Given the description of an element on the screen output the (x, y) to click on. 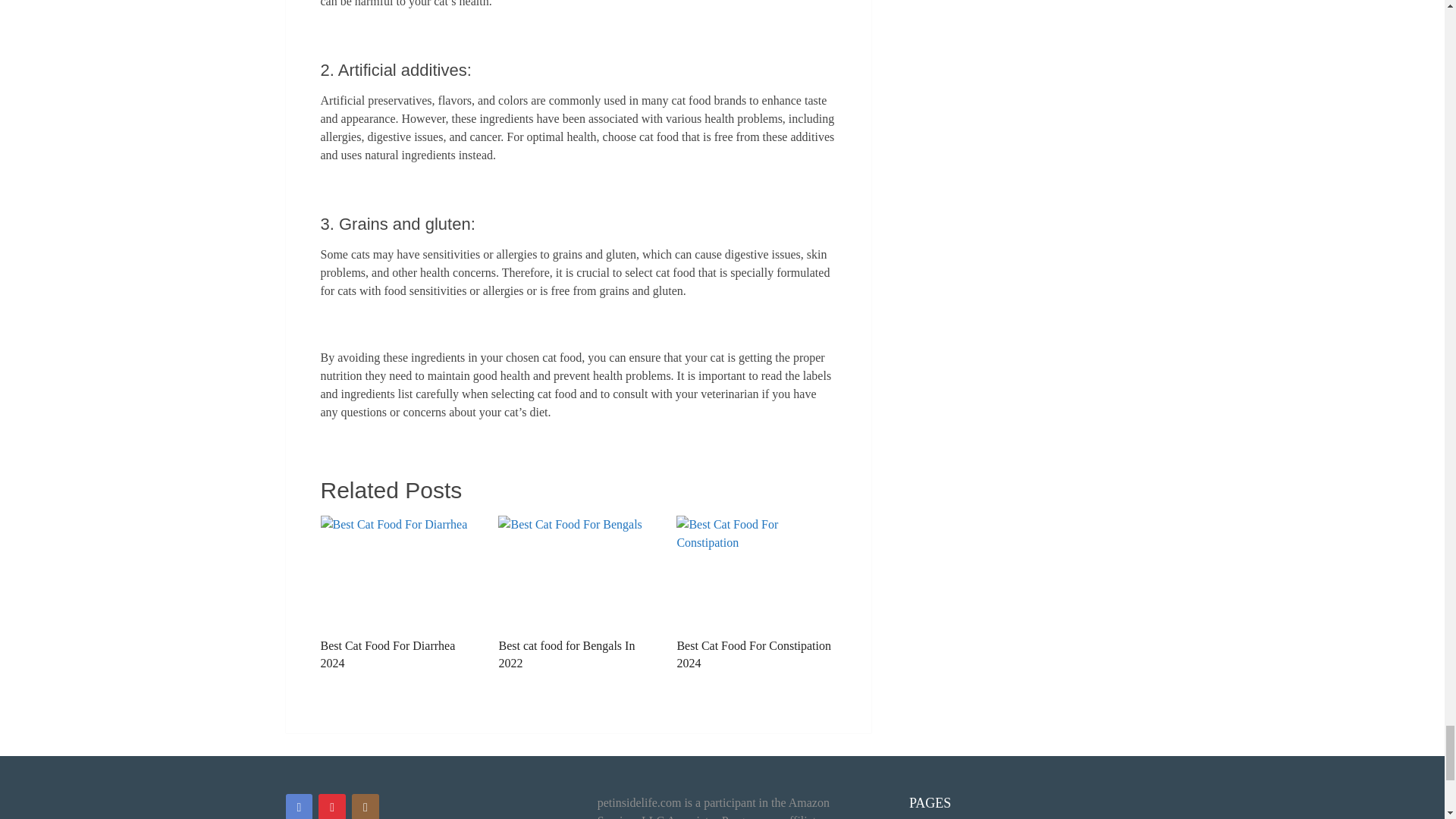
Instagram (365, 806)
Facebook (299, 806)
Best Cat Food For Constipation 2024 (756, 593)
Best cat food for Bengals In 2022 (577, 593)
Best cat food for Bengals In 2022 (577, 593)
Pinterest (332, 806)
best cat food for bengals (577, 572)
Best Cat Food For Diarrhea 2024 (399, 593)
Best Cat Food For Diarrhea 2024 (399, 593)
Best Cat Food For Constipation 2024 (756, 593)
